Given the description of an element on the screen output the (x, y) to click on. 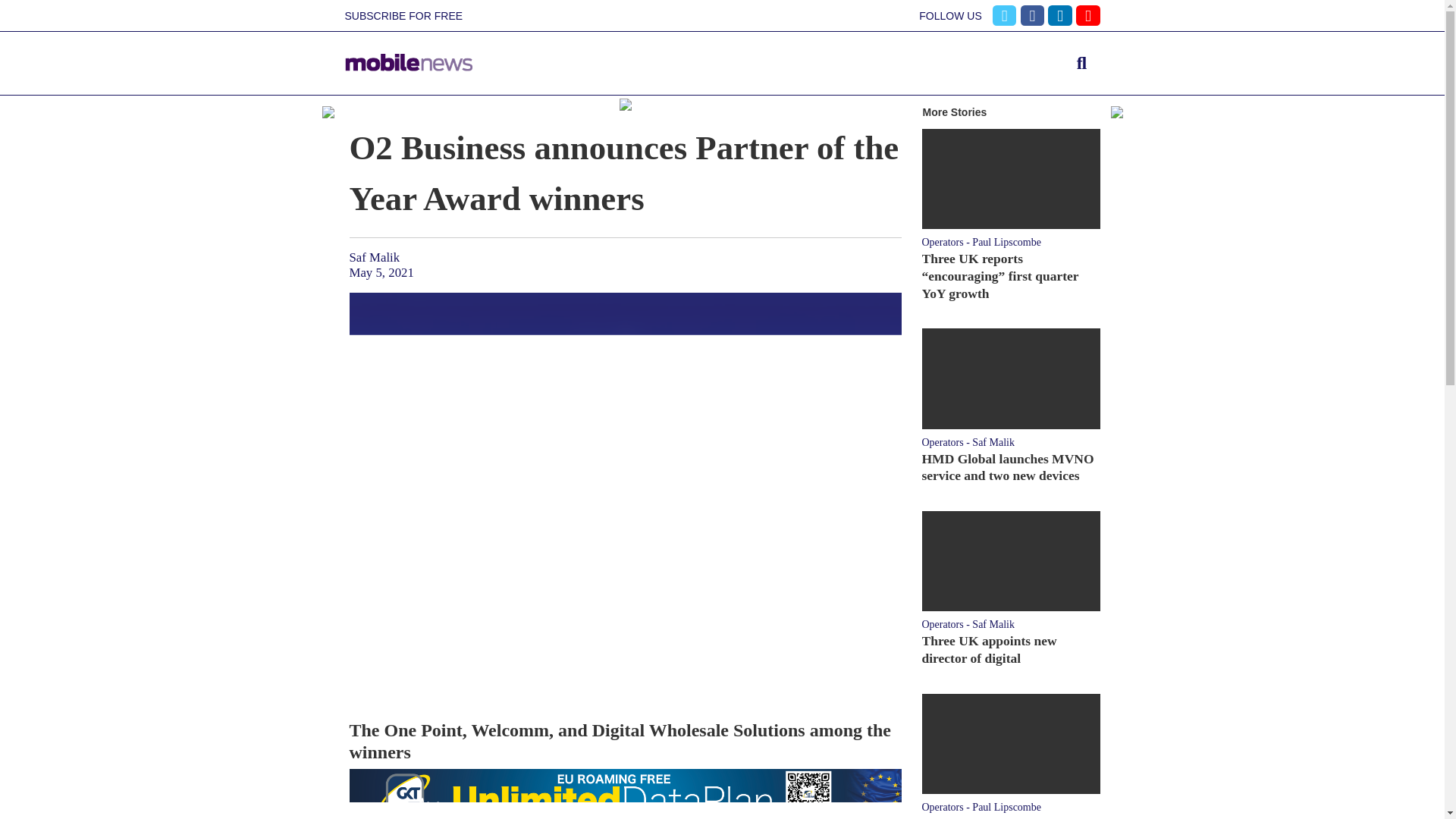
SUBSCRIBE FOR FREE (403, 15)
